Given the description of an element on the screen output the (x, y) to click on. 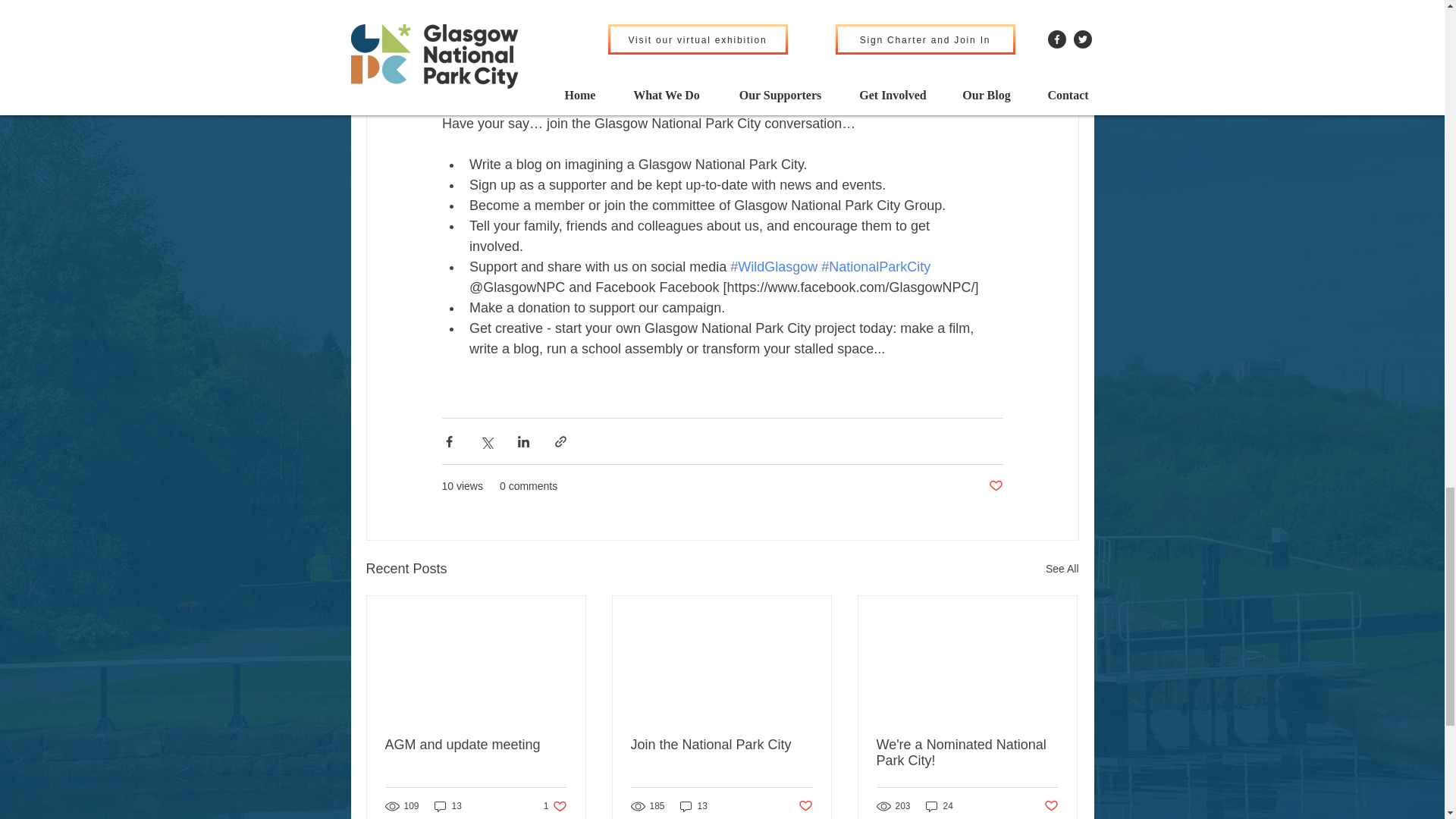
24 (939, 806)
13 (447, 806)
Join the National Park City (721, 744)
We're a Nominated National Park City! (967, 753)
Post not marked as liked (1050, 806)
Post not marked as liked (995, 486)
See All (555, 806)
Post not marked as liked (1061, 568)
AGM and update meeting (804, 806)
